Given the description of an element on the screen output the (x, y) to click on. 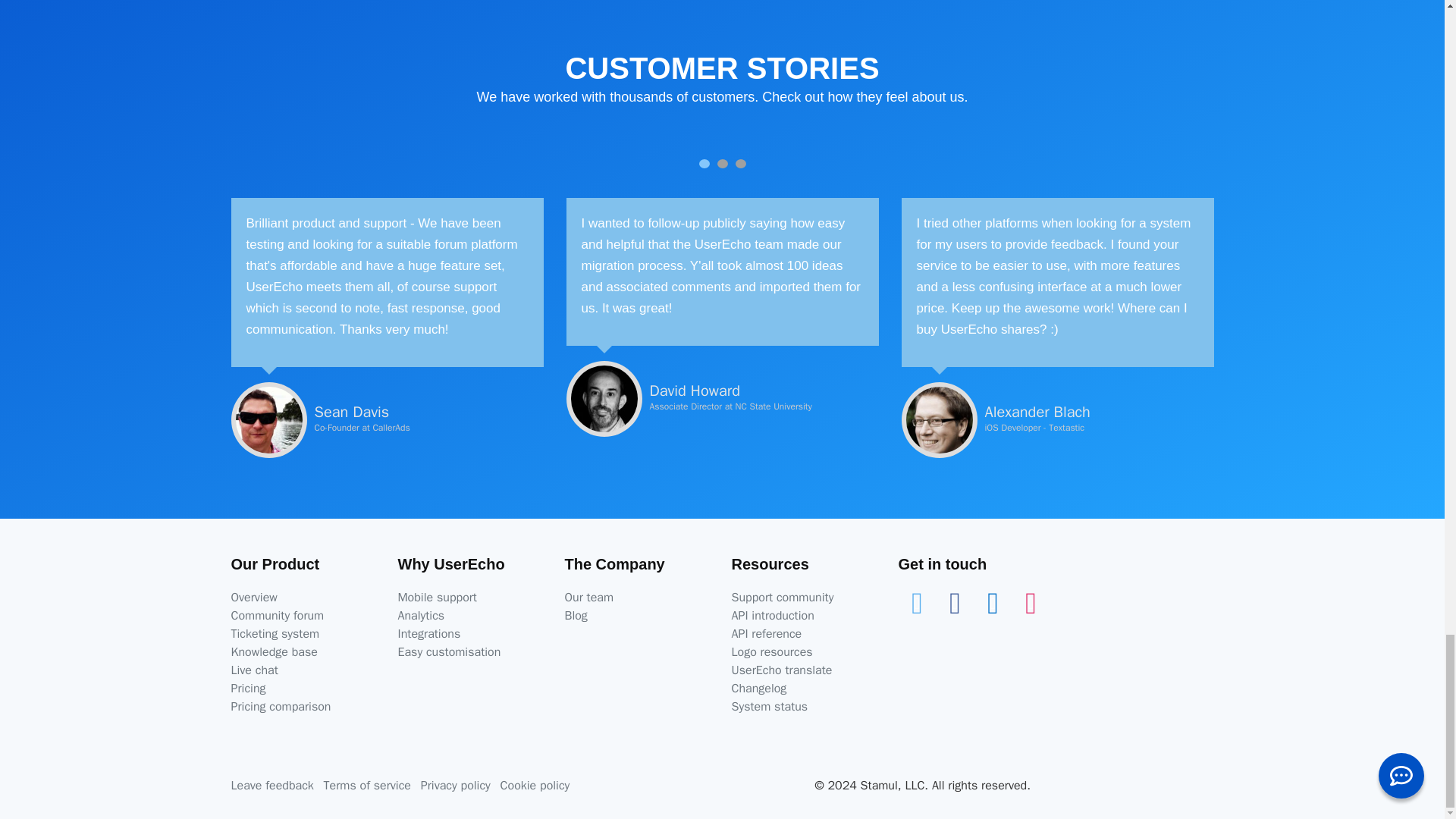
Facebook (955, 602)
LinkedIn (992, 602)
Instagram (1030, 602)
